Given the description of an element on the screen output the (x, y) to click on. 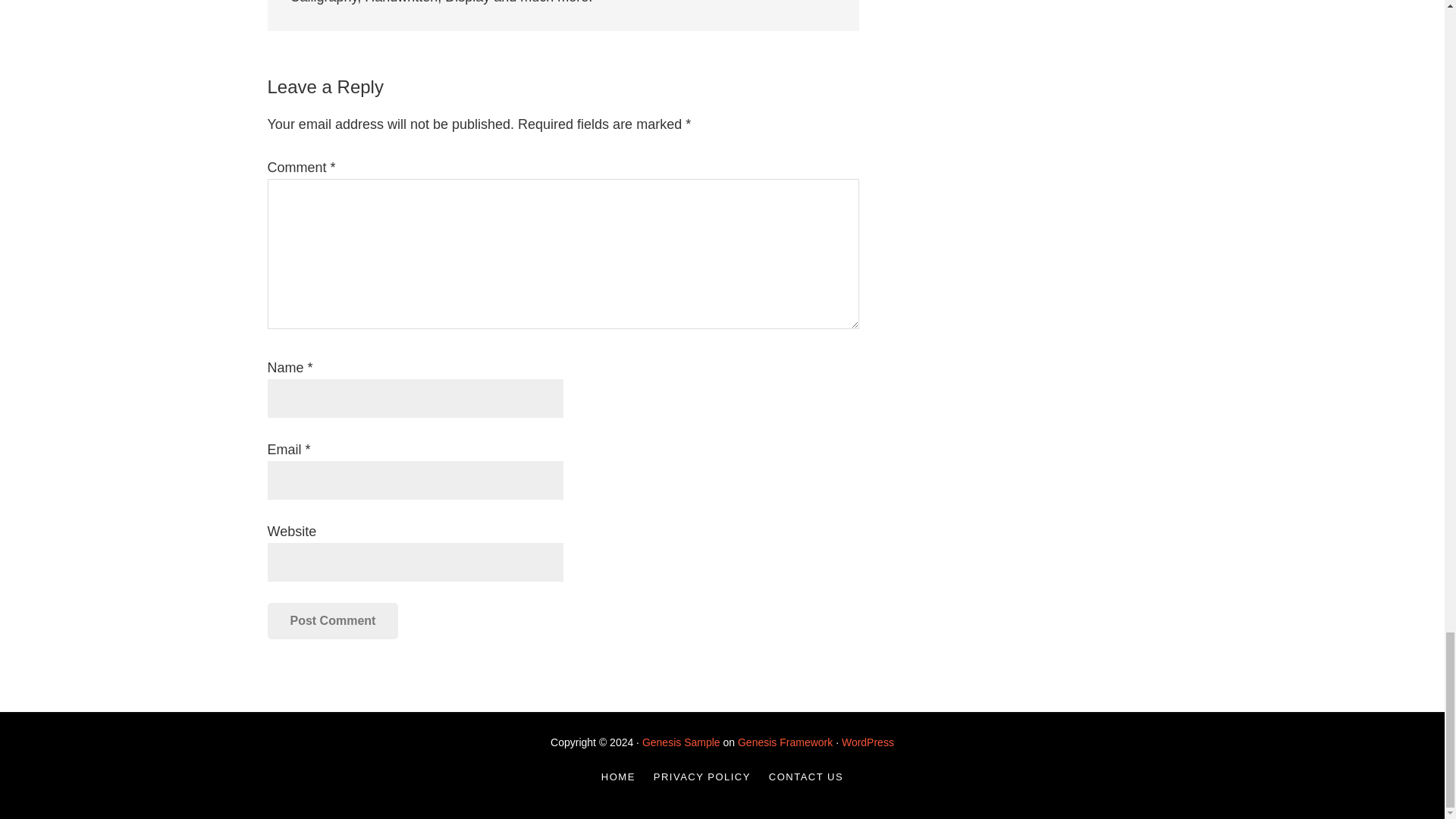
Post Comment (331, 620)
